Given the description of an element on the screen output the (x, y) to click on. 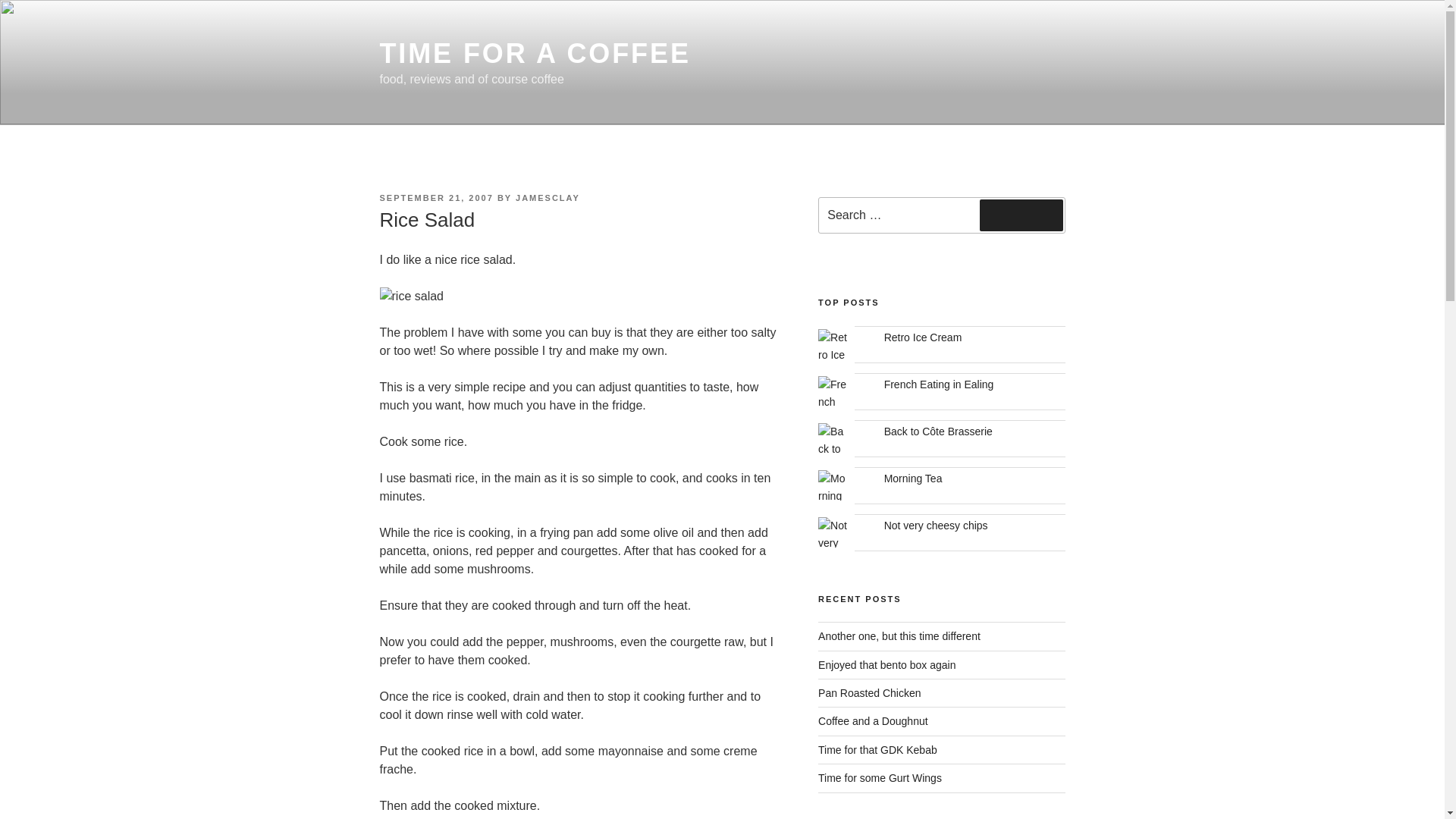
Enjoyed that bento box again (886, 664)
Pan Roasted Chicken (869, 693)
JAMESCLAY (547, 197)
Retro Ice Cream (922, 337)
TIME FOR A COFFEE (534, 52)
Time for that GDK Kebab (877, 749)
Time for some Gurt Wings (880, 777)
French Eating in Ealing (938, 384)
Retro Ice Cream (922, 337)
SEPTEMBER 21, 2007 (435, 197)
